Given the description of an element on the screen output the (x, y) to click on. 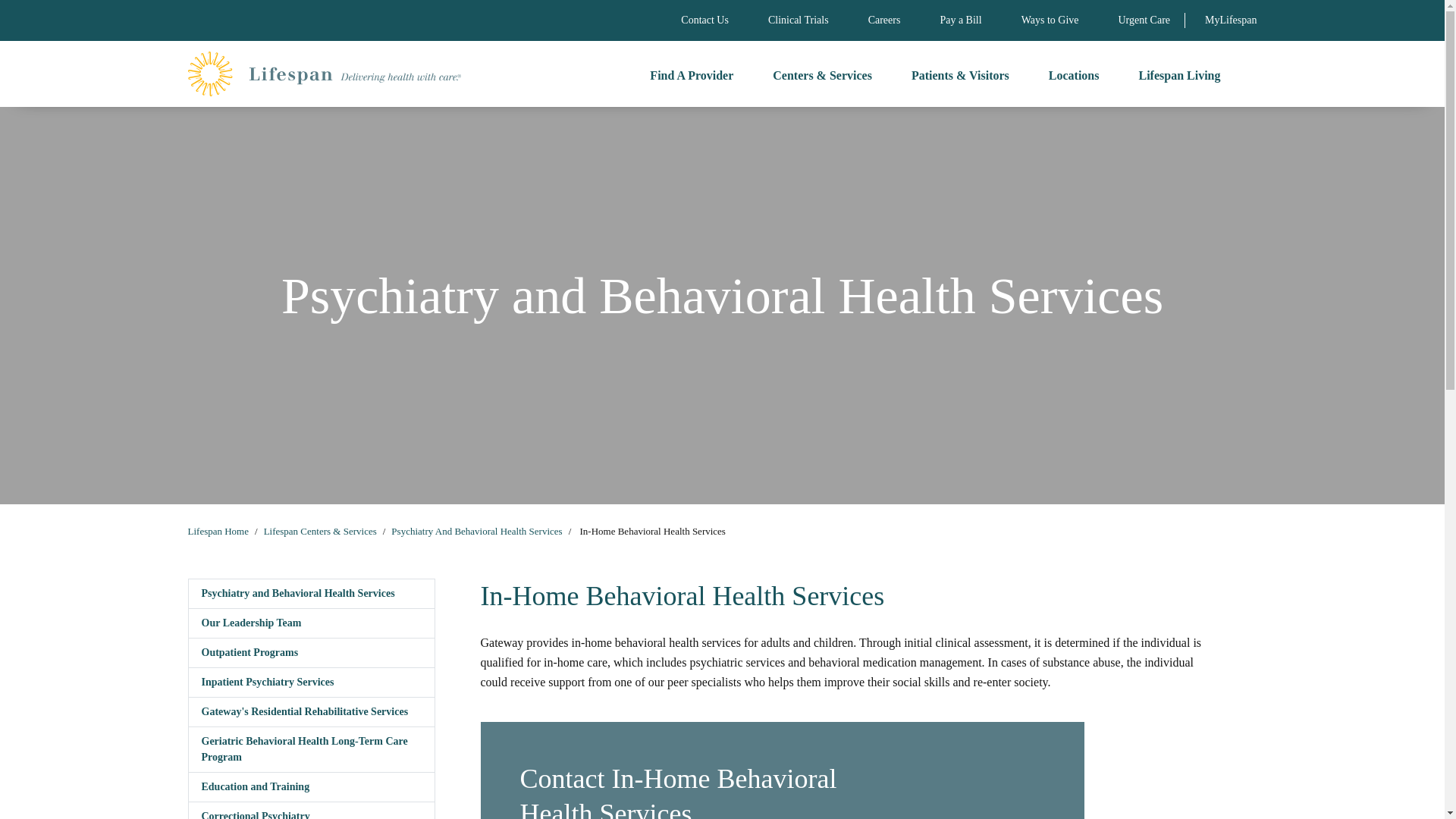
MyLifespan (1230, 20)
Ways to Give (1050, 20)
Clinical Trials (798, 20)
Contact Us (705, 20)
Urgent Care (1144, 20)
Pay a bill online (960, 20)
Pay a Bill (960, 20)
